Given the description of an element on the screen output the (x, y) to click on. 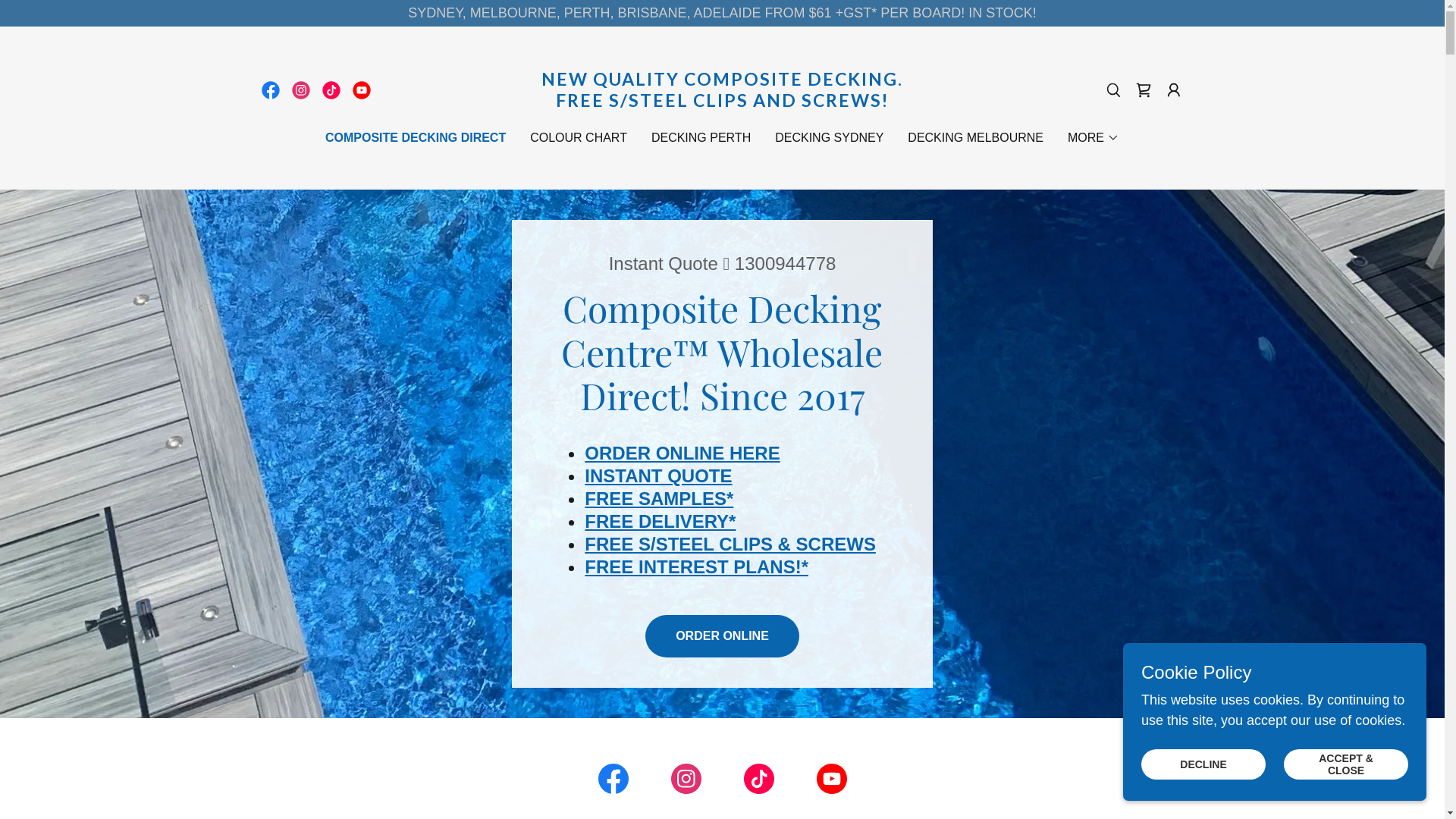
1300944778 Element type: text (784, 263)
DECKING MELBOURNE Element type: text (975, 137)
DECKING PERTH Element type: text (700, 137)
FREE SAMPLES* Element type: text (658, 498)
INSTANT QUOTE Element type: text (657, 475)
ORDER ONLINE Element type: text (722, 636)
FREE INTEREST PLANS!* Element type: text (696, 566)
ACCEPT & CLOSE Element type: text (1345, 764)
MORE Element type: text (1093, 137)
FREE S/STEEL CLIPS & SCREWS Element type: text (729, 543)
DECLINE Element type: text (1203, 764)
FREE DELIVERY* Element type: text (659, 521)
COLOUR CHART Element type: text (578, 137)
DECKING SYDNEY Element type: text (829, 137)
COMPOSITE DECKING DIRECT Element type: text (415, 137)
ORDER ONLINE HERE Element type: text (681, 452)
